Given the description of an element on the screen output the (x, y) to click on. 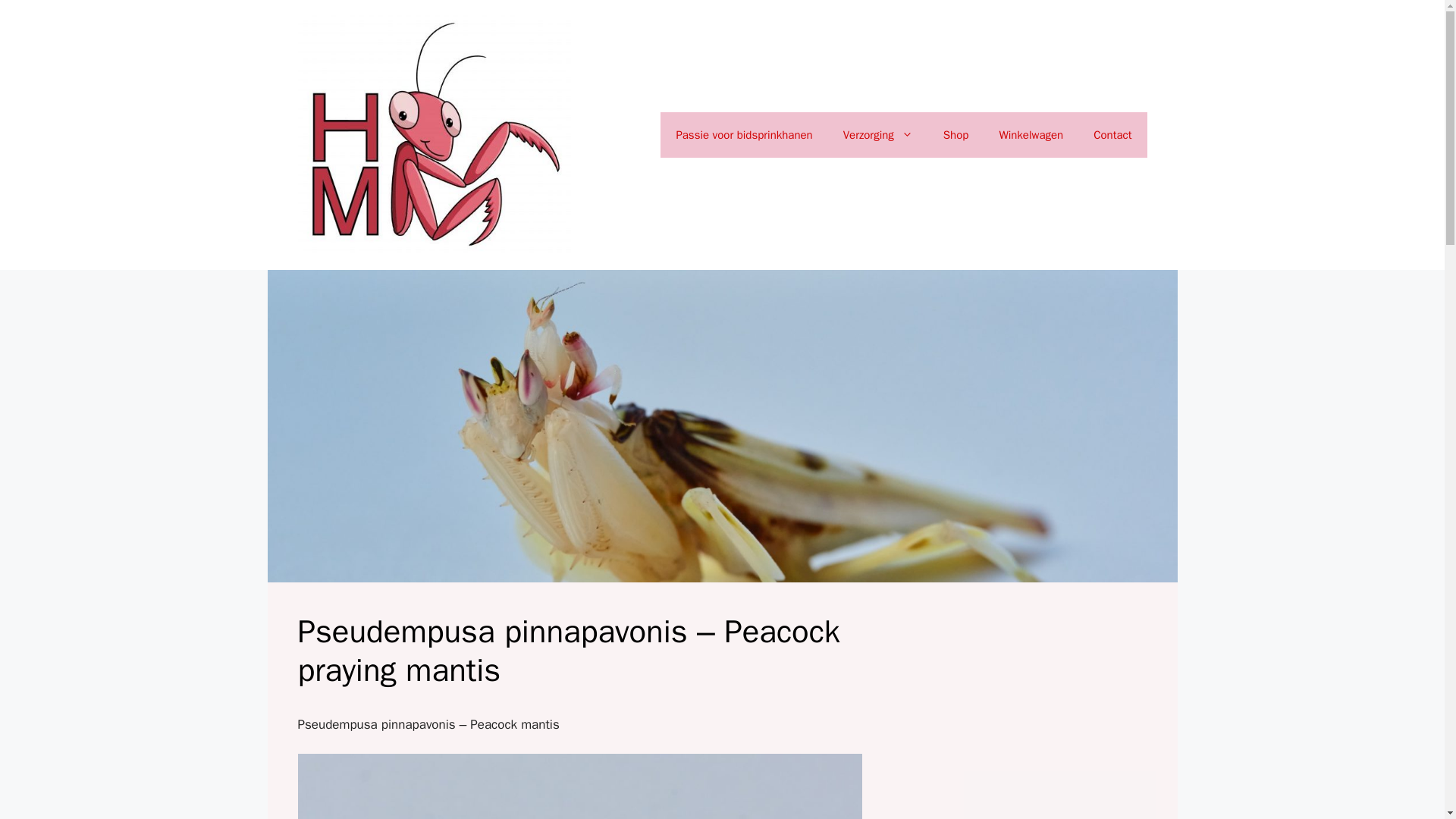
Verzorging (878, 135)
Shop (956, 135)
Contact (1112, 135)
Winkelwagen (1031, 135)
Passie voor bidsprinkhanen (744, 135)
